Given the description of an element on the screen output the (x, y) to click on. 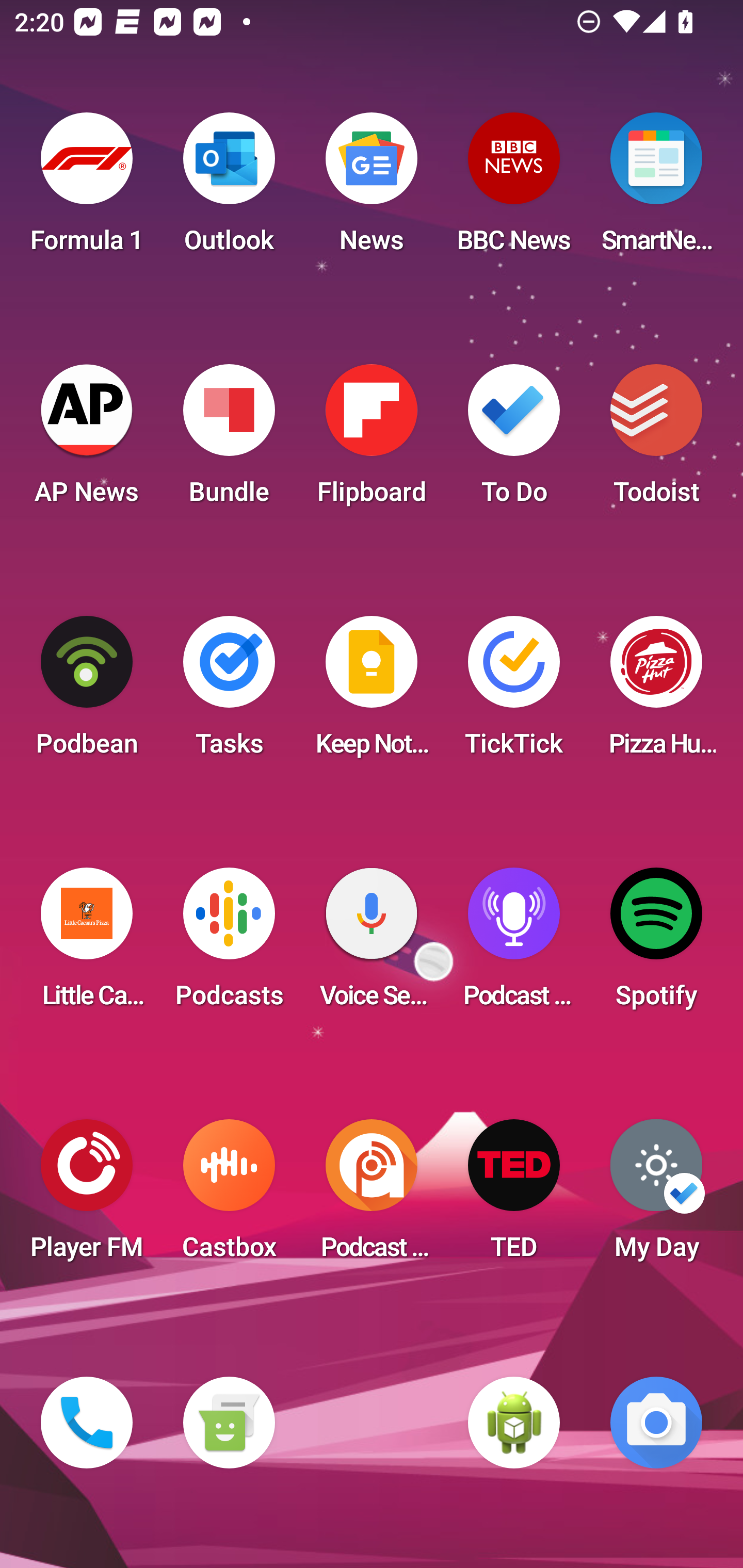
Formula 1 (86, 188)
Outlook (228, 188)
News (371, 188)
BBC News (513, 188)
SmartNews (656, 188)
AP News (86, 440)
Bundle (228, 440)
Flipboard (371, 440)
To Do (513, 440)
Todoist (656, 440)
Podbean (86, 692)
Tasks (228, 692)
Keep Notes (371, 692)
TickTick (513, 692)
Pizza Hut HK & Macau (656, 692)
Little Caesars Pizza (86, 943)
Podcasts (228, 943)
Voice Search (371, 943)
Podcast Player (513, 943)
Spotify (656, 943)
Player FM (86, 1195)
Castbox (228, 1195)
Podcast Addict (371, 1195)
TED (513, 1195)
My Day (656, 1195)
Phone (86, 1422)
Messaging (228, 1422)
WebView Browser Tester (513, 1422)
Camera (656, 1422)
